Given the description of an element on the screen output the (x, y) to click on. 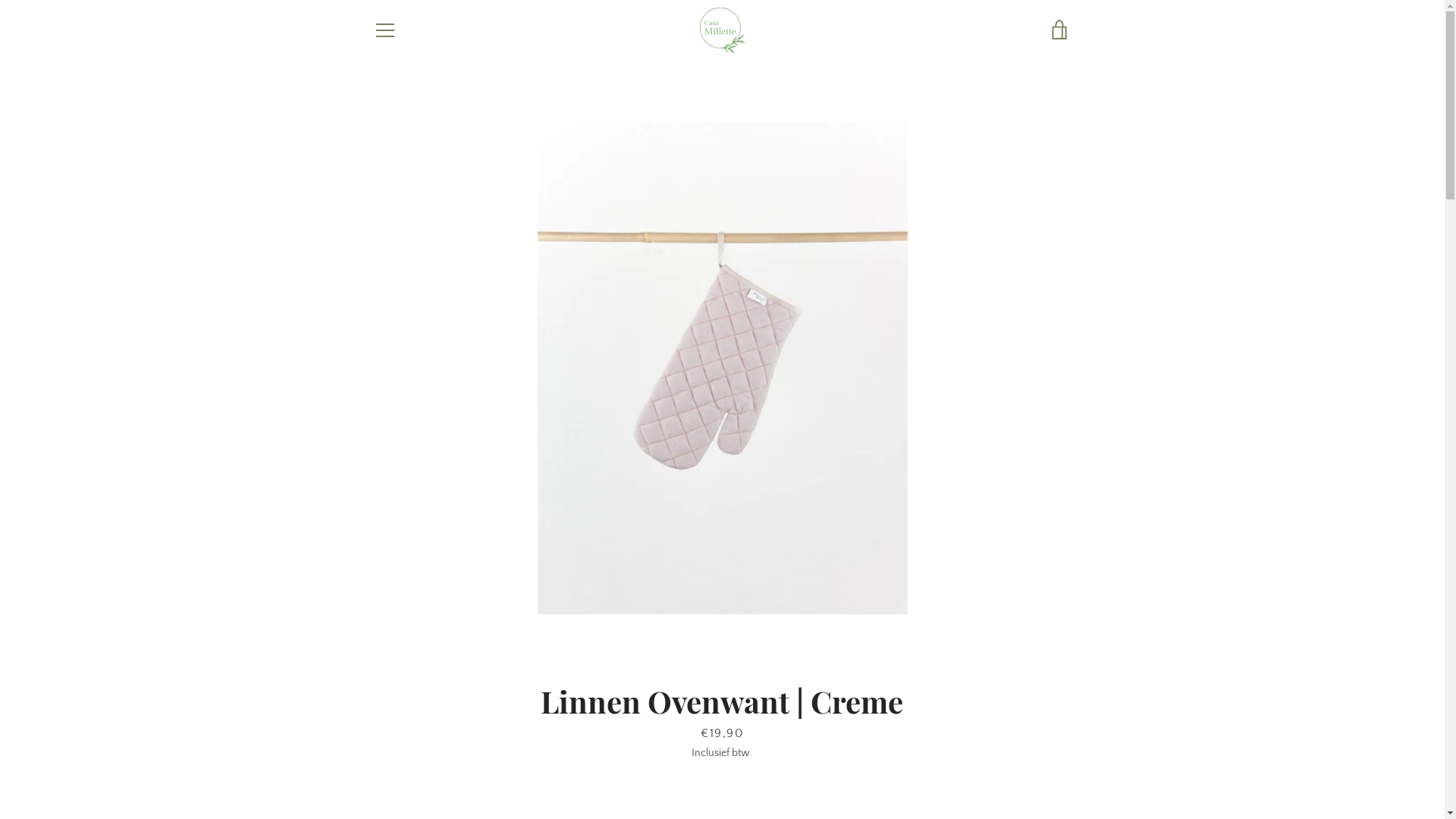
WINKELWAGEN BEKIJKEN Element type: text (1059, 30)
VERZENDEN EN RETOURNEREN Element type: text (445, 677)
MENU Element type: text (384, 30)
Casa Millette Element type: text (754, 756)
Facebook Element type: text (372, 765)
PRIVACYVERKLARING Element type: text (423, 654)
Instagram Element type: text (398, 765)
ZOEKEN Element type: text (392, 610)
ABONNEREN Element type: text (1031, 679)
Meteen naar de content Element type: text (0, 0)
ALGEMENE VOORWAARDEN Element type: text (439, 632)
